Given the description of an element on the screen output the (x, y) to click on. 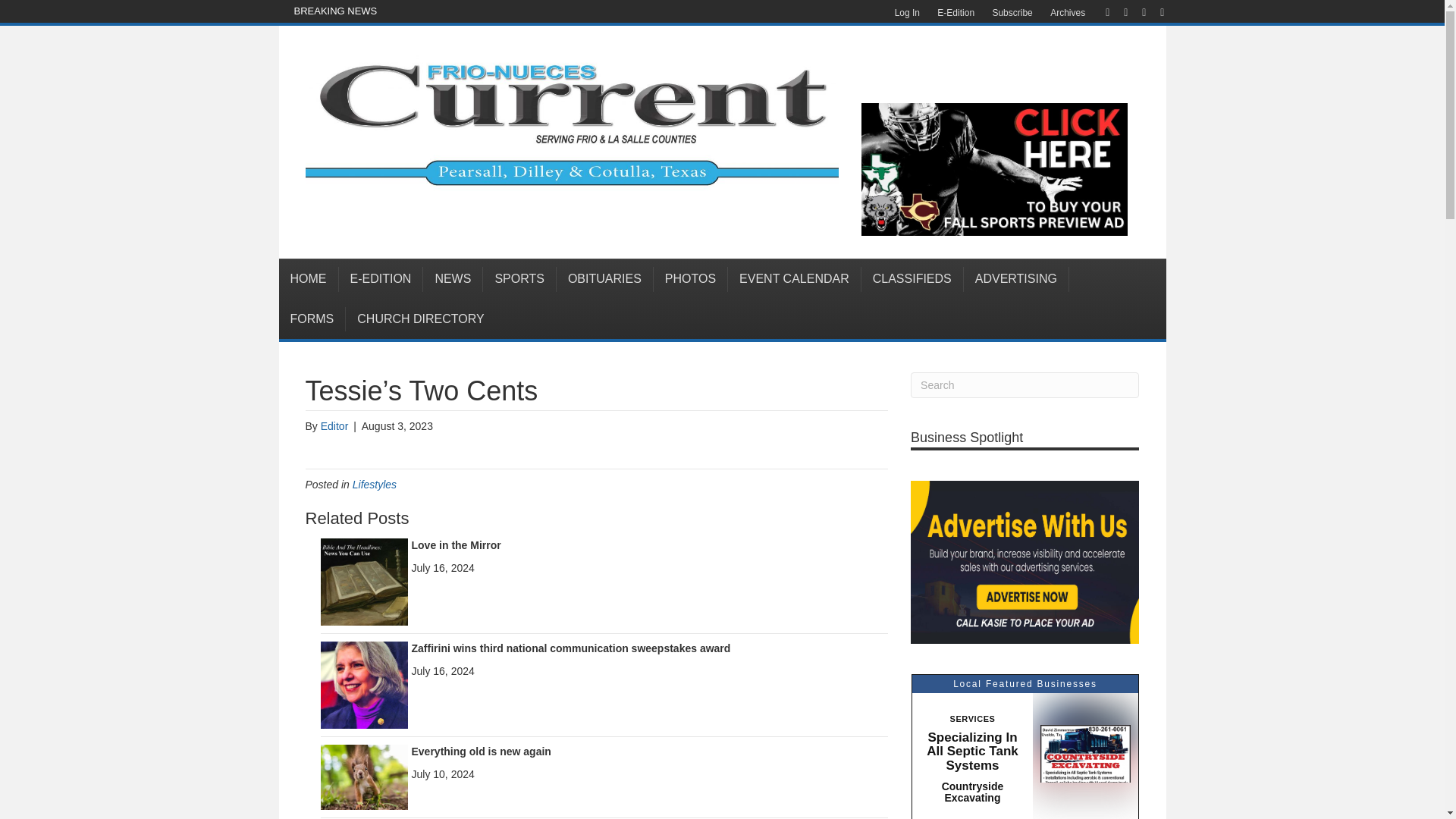
Twitter (1117, 11)
NEWS (453, 278)
Love in the Mirror (363, 580)
Instagram (1135, 11)
Subscribe (1011, 13)
Everything old is new again (480, 751)
SPORTS (519, 278)
Email (1154, 11)
HOME (309, 278)
E-EDITION (380, 278)
Facebook (1099, 11)
Type and press Enter to search. (1024, 385)
Log In (906, 13)
Love in the Mirror (455, 544)
